Given the description of an element on the screen output the (x, y) to click on. 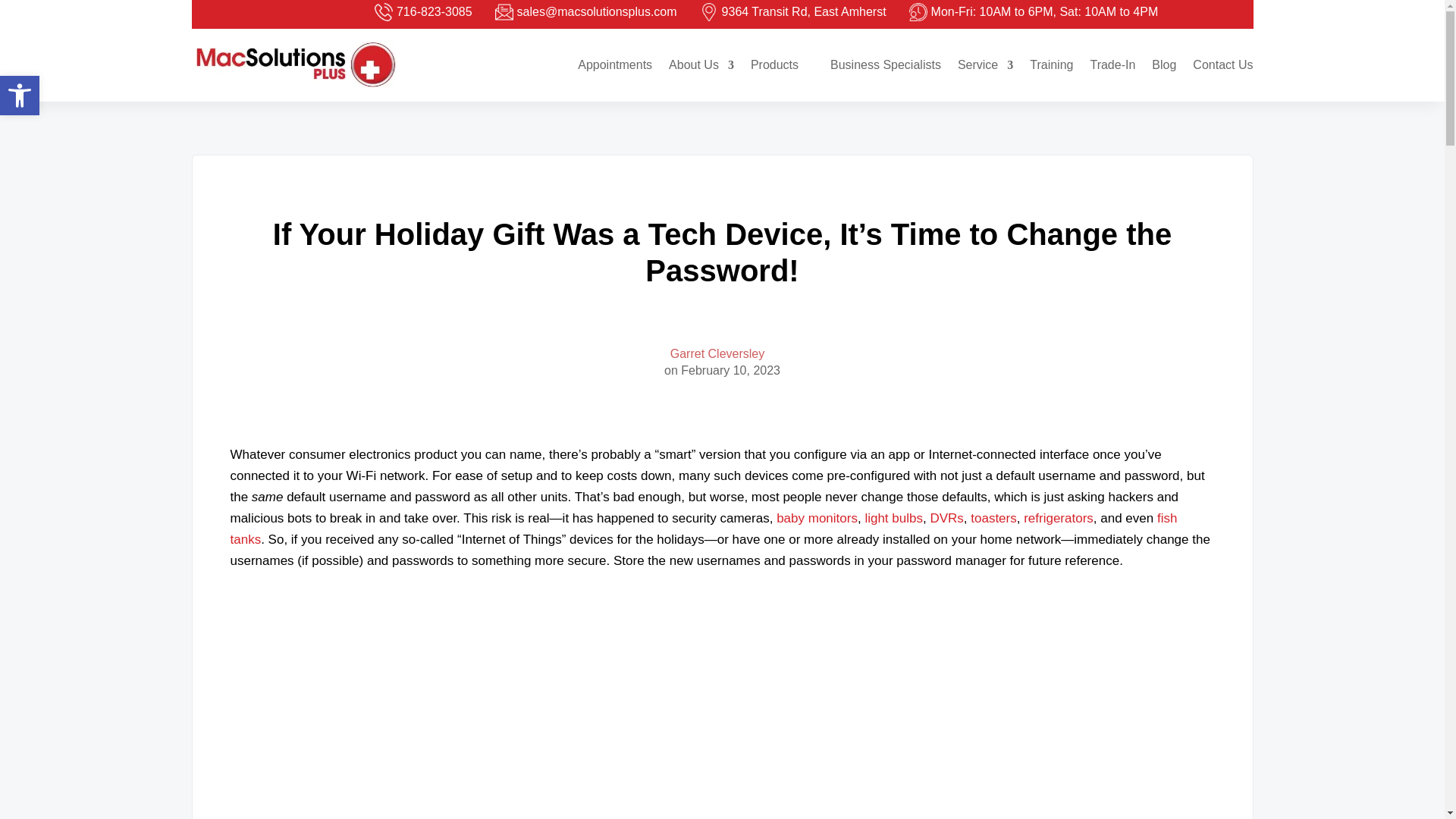
About Us (700, 65)
Service (985, 65)
Contact Us (1222, 65)
Appointments (615, 65)
Products (782, 65)
716-823-3085 (422, 11)
Accessibility Tools (19, 95)
Business Specialists (884, 65)
